Given the description of an element on the screen output the (x, y) to click on. 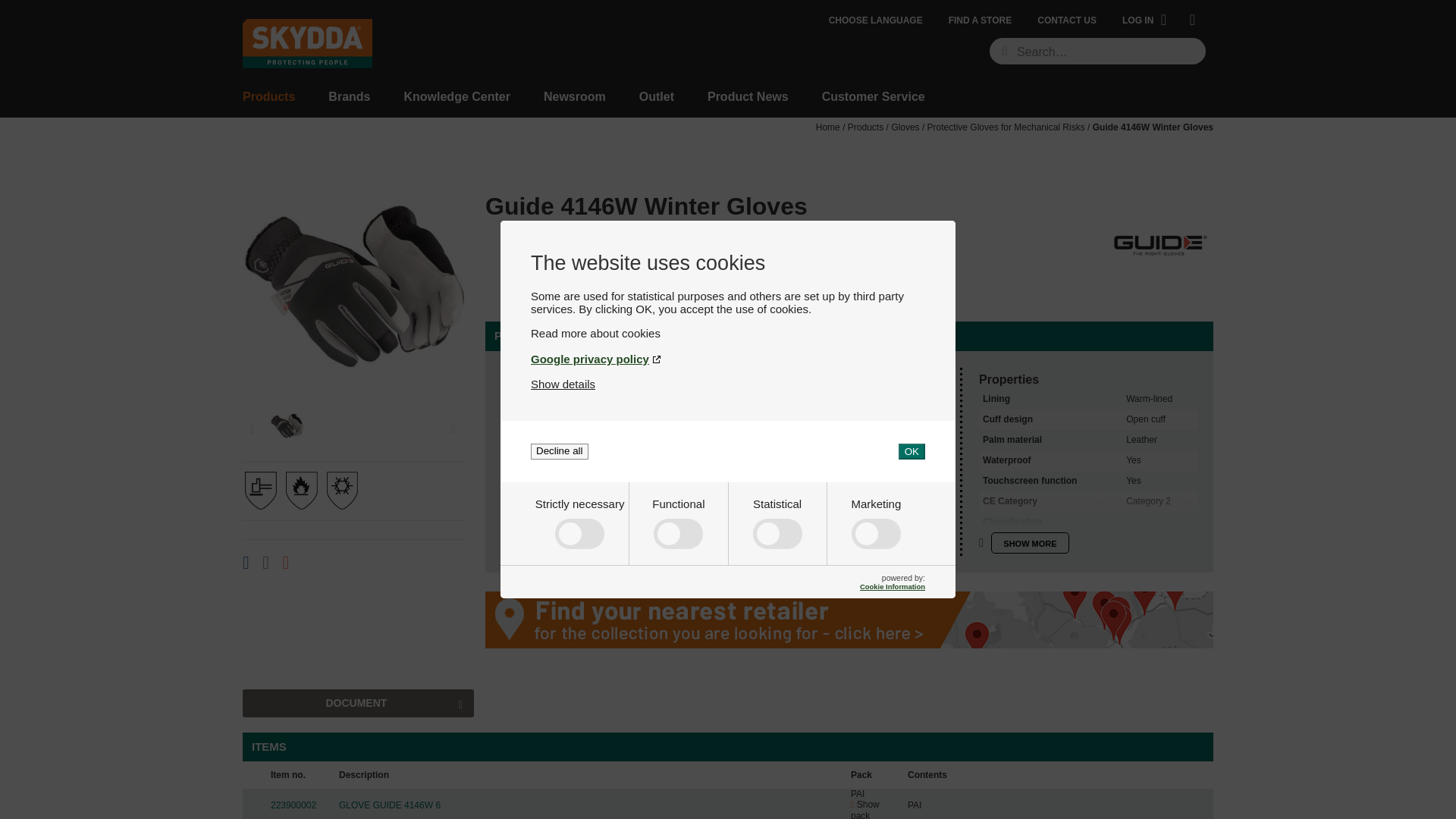
OK (911, 451)
Read more about cookies (727, 332)
Cookie Information (892, 586)
Decline all (559, 451)
Google privacy policy (727, 358)
Show details (563, 383)
